Given the description of an element on the screen output the (x, y) to click on. 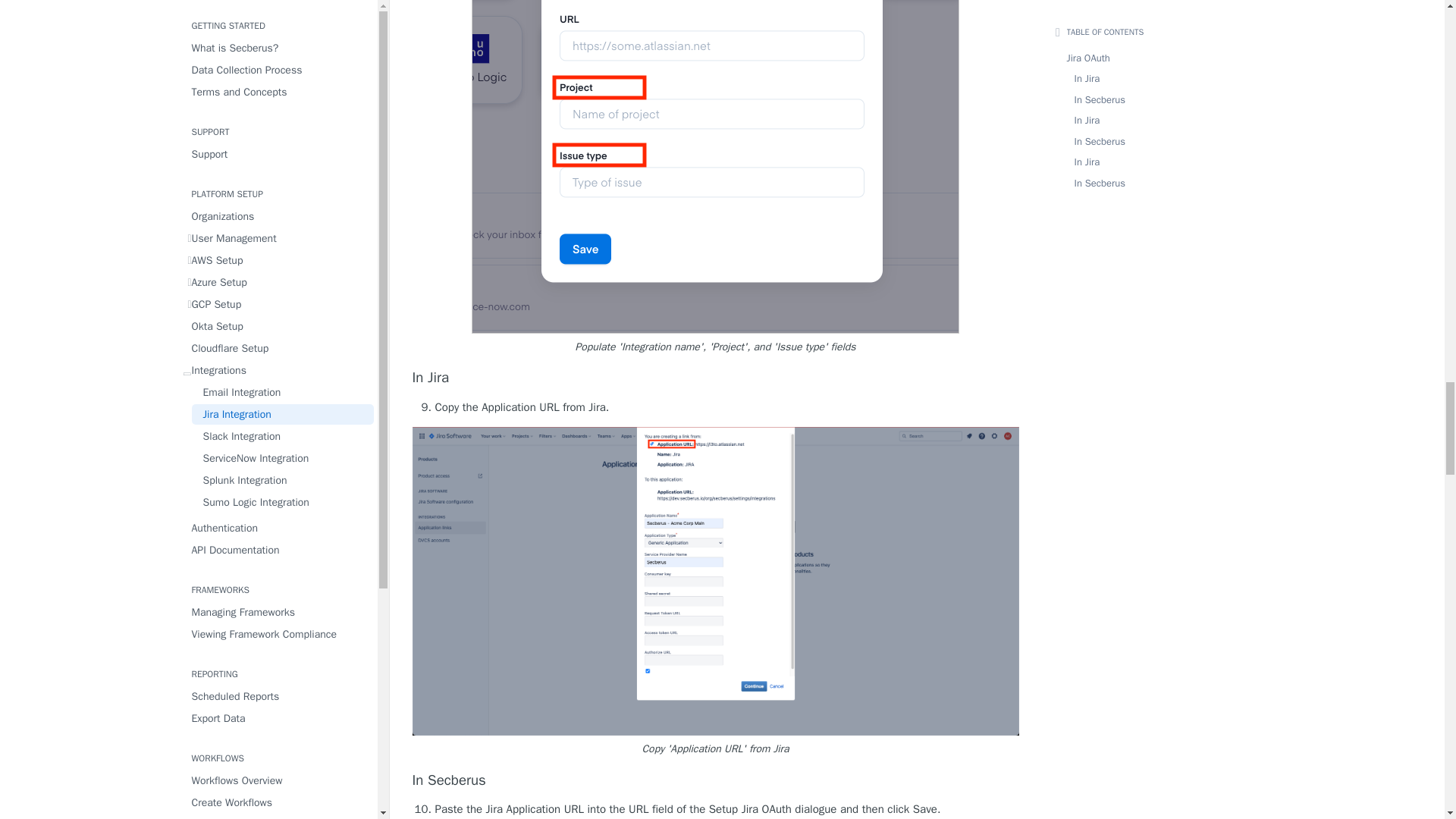
In Secberus (715, 780)
In Jira (715, 377)
